Given the description of an element on the screen output the (x, y) to click on. 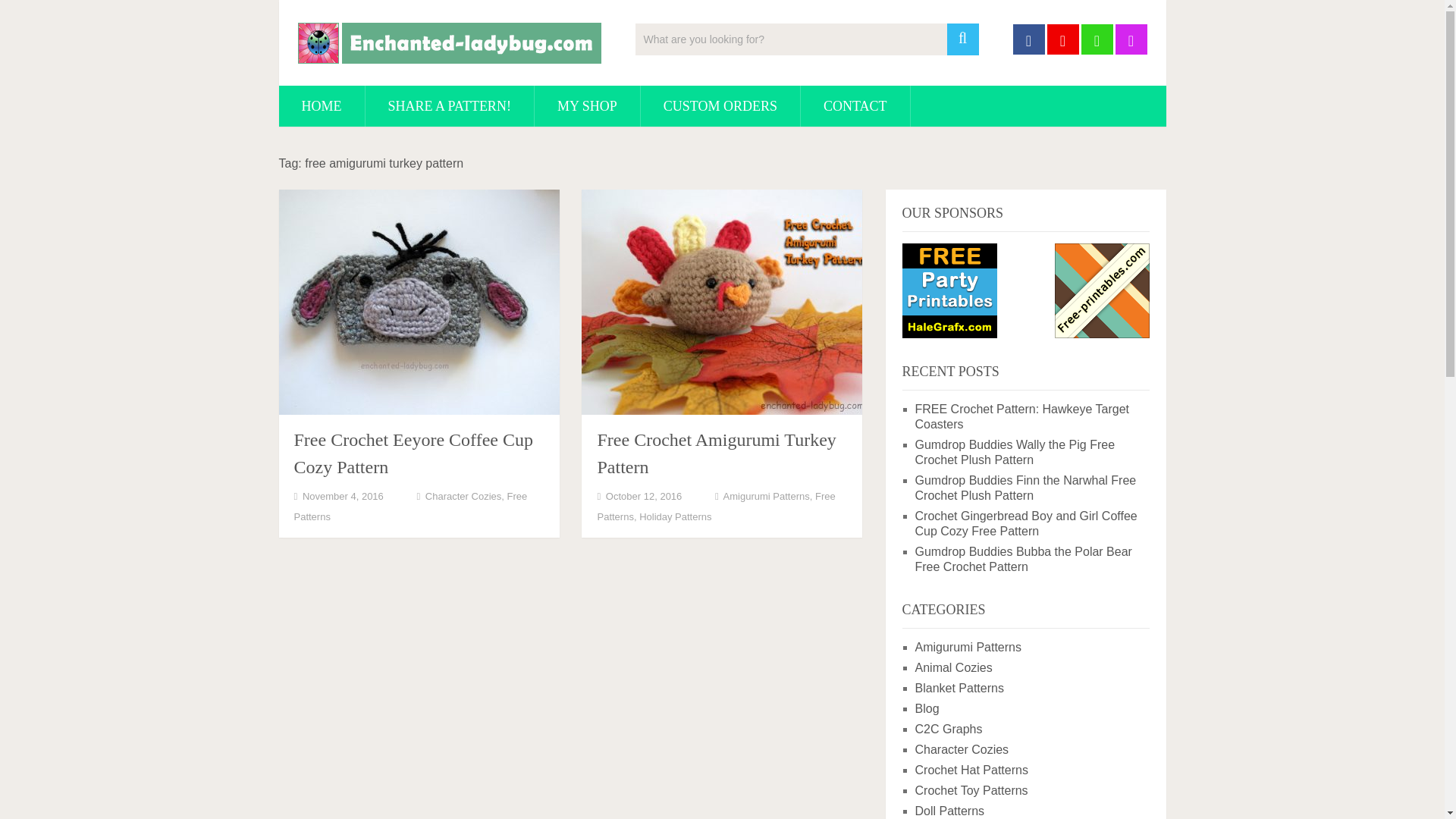
Amigurumi Patterns (766, 496)
View all posts in Character Cozies (462, 496)
Free Crochet Eeyore Coffee Cup Cozy Pattern (413, 452)
View all posts in Amigurumi Patterns (766, 496)
View all posts in Free Patterns (410, 506)
C2C Graphs (947, 728)
Amigurumi Patterns (968, 646)
Free Crochet Amigurumi Turkey Pattern (715, 452)
Free Crochet Amigurumi Turkey Pattern (715, 452)
